Given the description of an element on the screen output the (x, y) to click on. 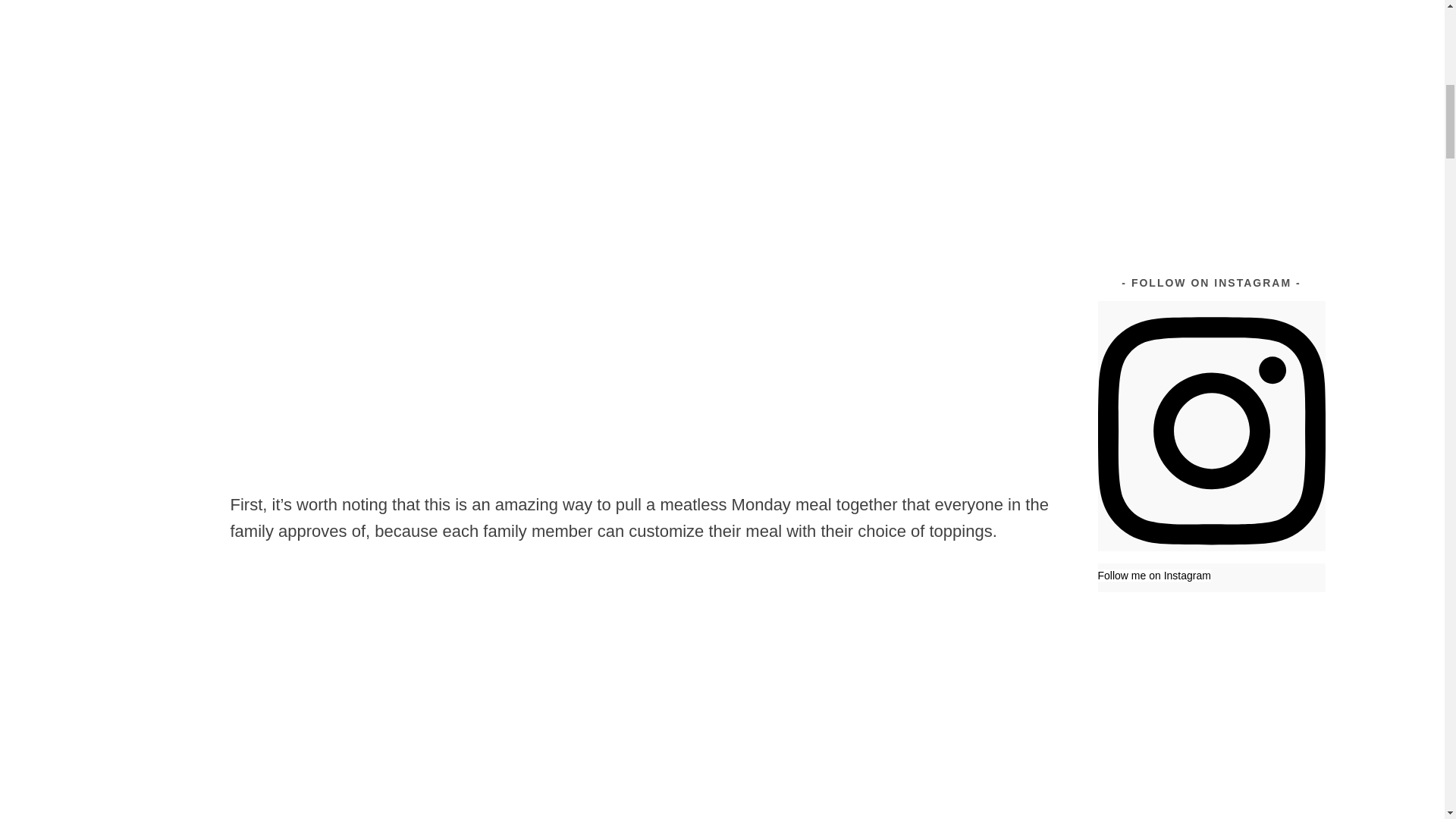
Southwest Salad with 2-Ingredient Southwest Ranch Dressing (1267, 111)
Lazy Mom's Guide to Year in Review Photo Books (1268, 202)
Sew Pajama Pants from Vintage Sheets (1268, 30)
